Given the description of an element on the screen output the (x, y) to click on. 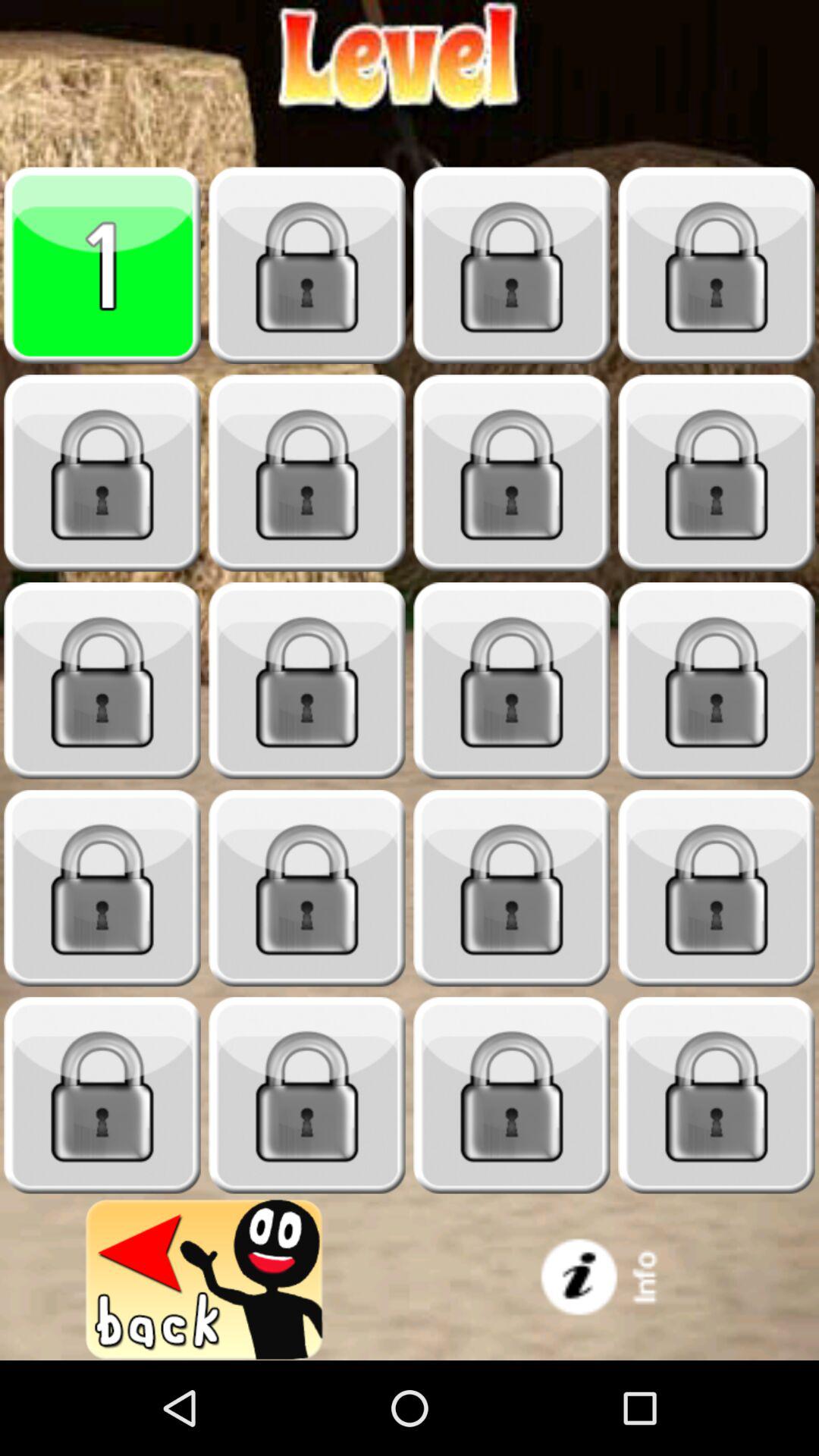
lock option (716, 887)
